Given the description of an element on the screen output the (x, y) to click on. 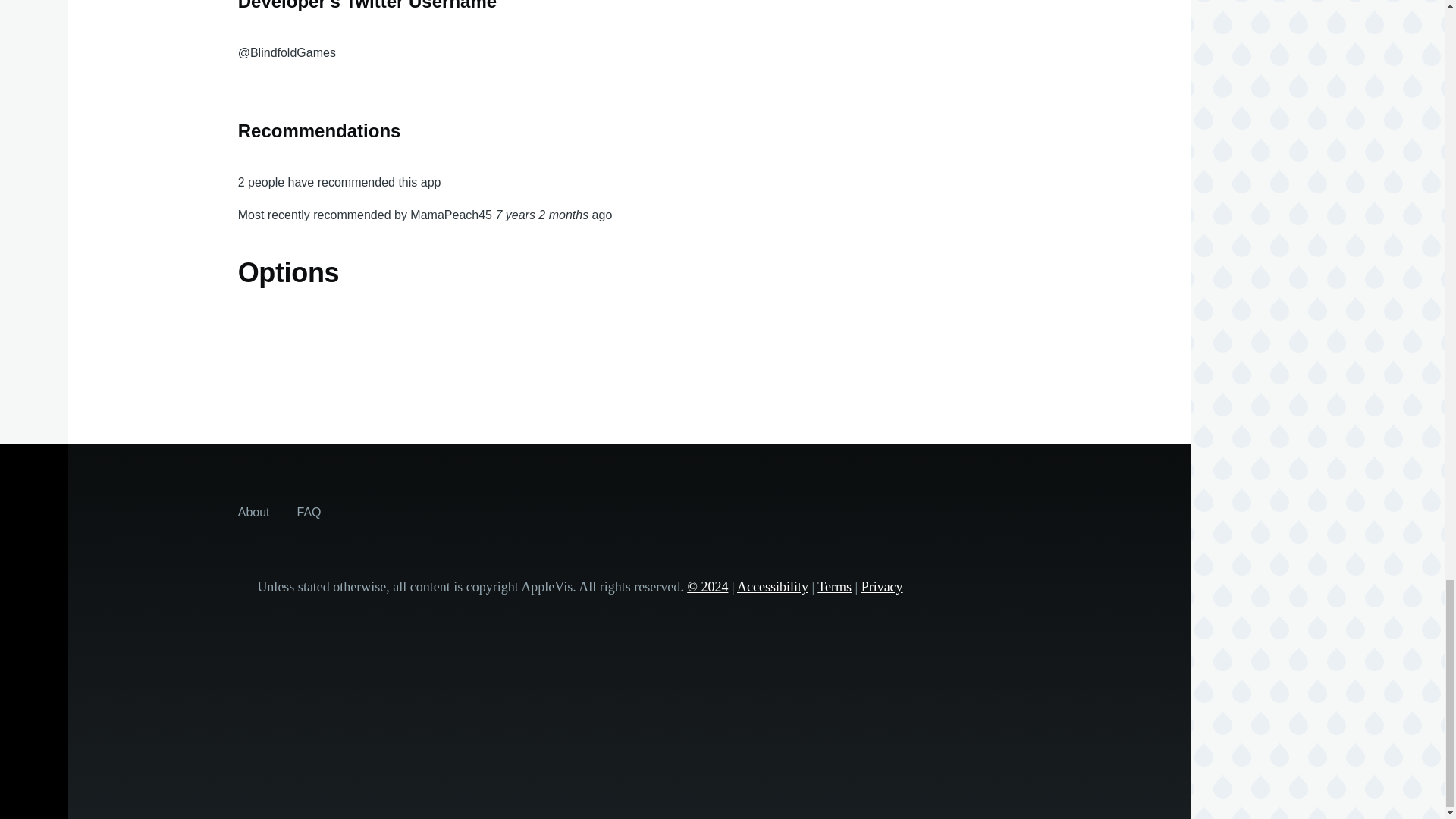
About (253, 511)
Accessibility (772, 586)
Terms (833, 586)
About (253, 511)
Privacy (881, 586)
